Given the description of an element on the screen output the (x, y) to click on. 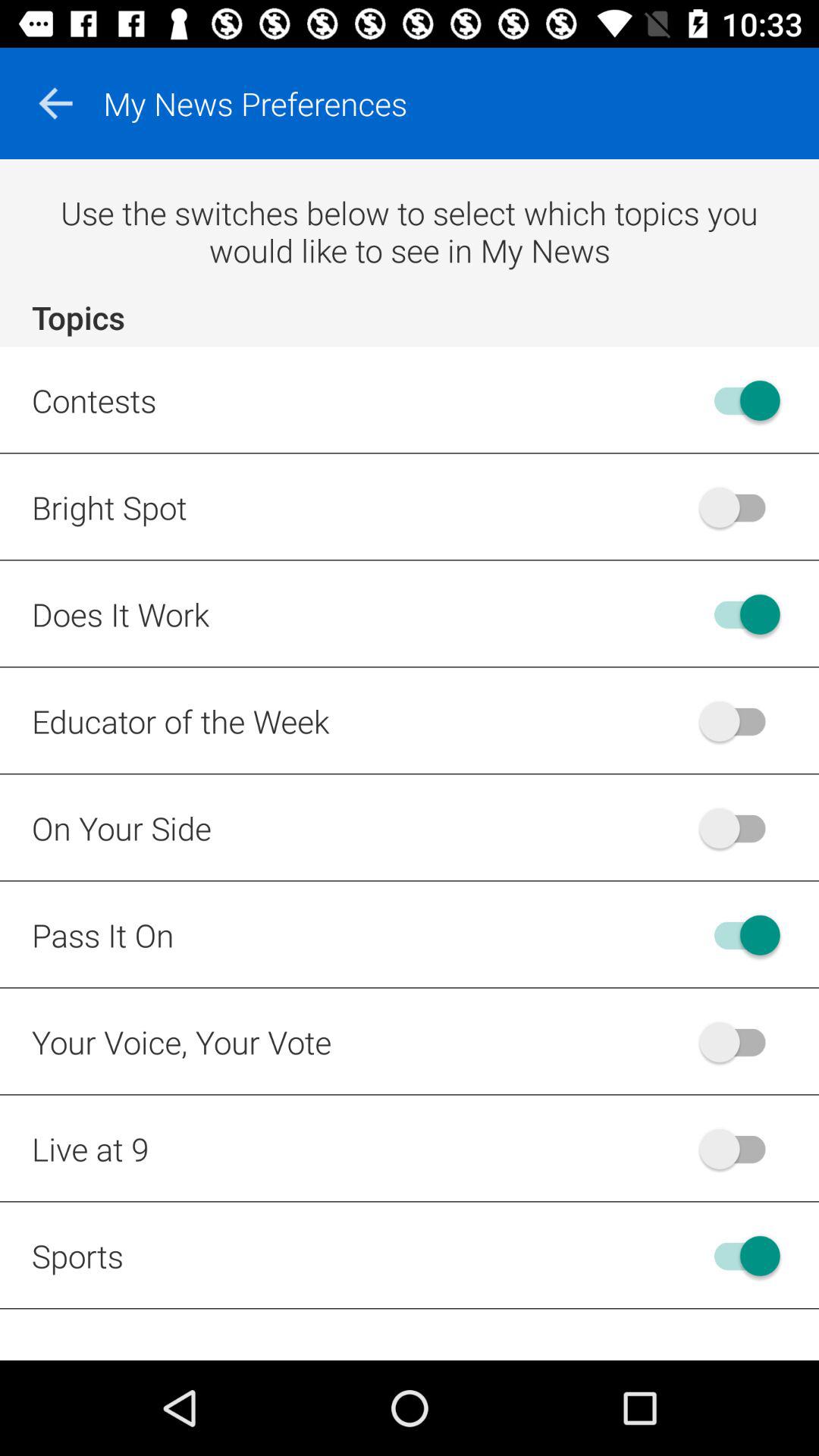
pass it on (739, 934)
